Given the description of an element on the screen output the (x, y) to click on. 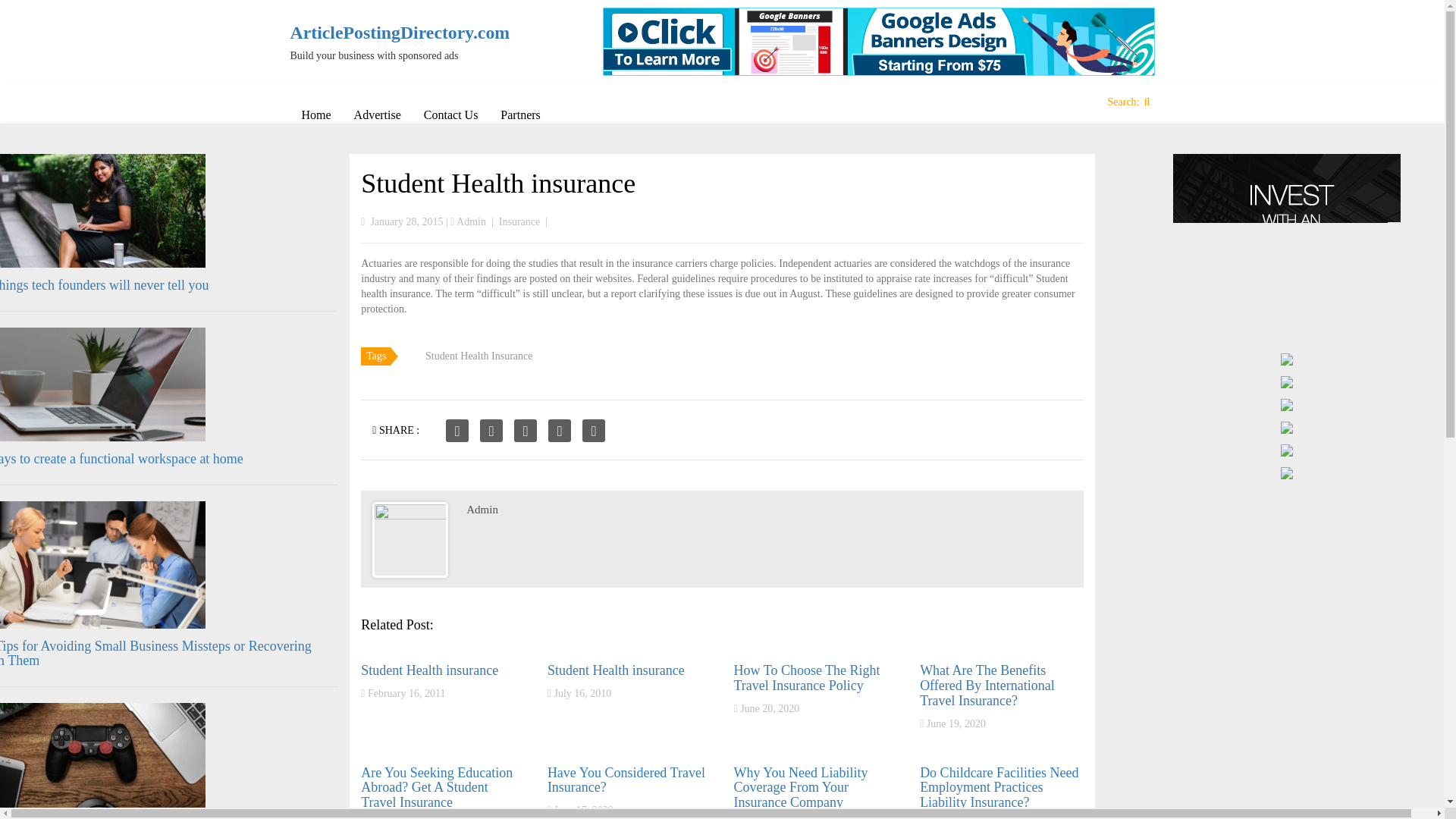
Student Health insurance (497, 183)
ArticlePostingDirectory.com (389, 32)
Contact Us (450, 115)
Share on Facebook (456, 430)
Posts by Admin (471, 221)
Admin (471, 221)
Advertise (377, 115)
Posts by Admin (481, 509)
Partners (520, 115)
